Given the description of an element on the screen output the (x, y) to click on. 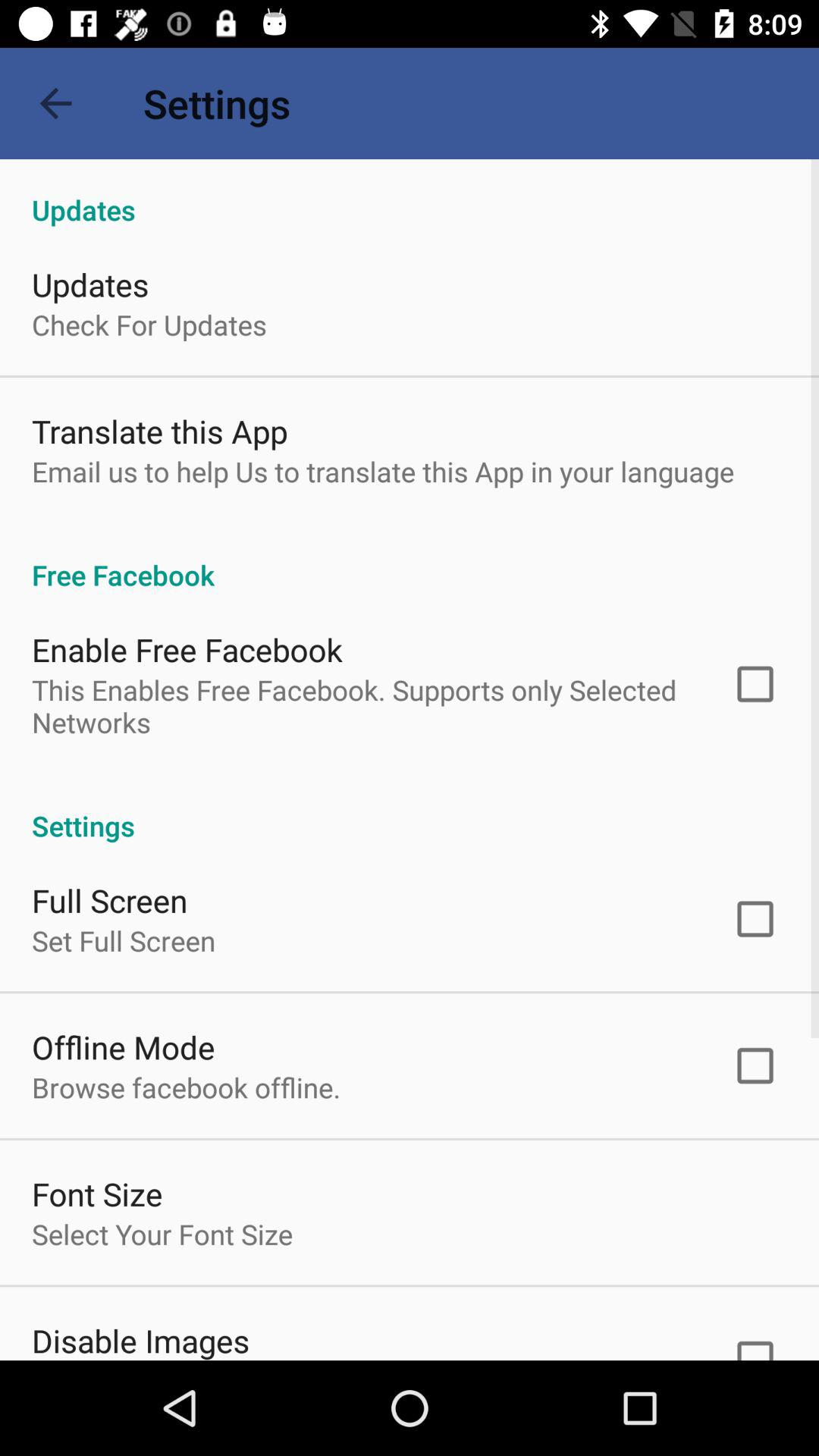
turn on the item above the free facebook app (382, 471)
